Given the description of an element on the screen output the (x, y) to click on. 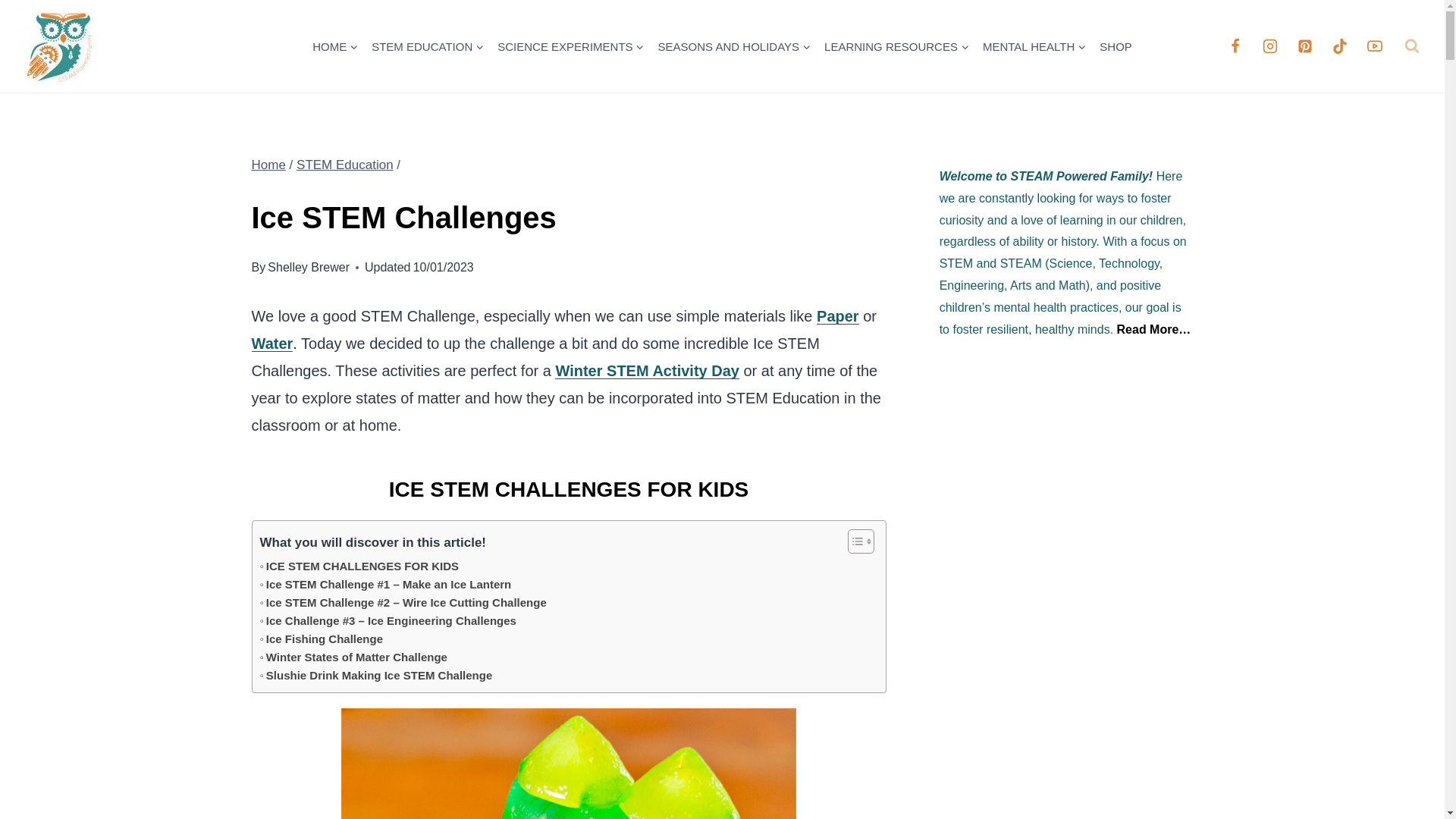
Winter States of Matter Challenge (352, 656)
STEM EDUCATION (427, 45)
HOME (335, 45)
ICE STEM CHALLENGES FOR KIDS (358, 565)
Ice Fishing Challenge (320, 638)
SEASONS AND HOLIDAYS (733, 45)
Slushie Drink Making Ice STEM Challenge (375, 674)
SCIENCE EXPERIMENTS (570, 45)
